Given the description of an element on the screen output the (x, y) to click on. 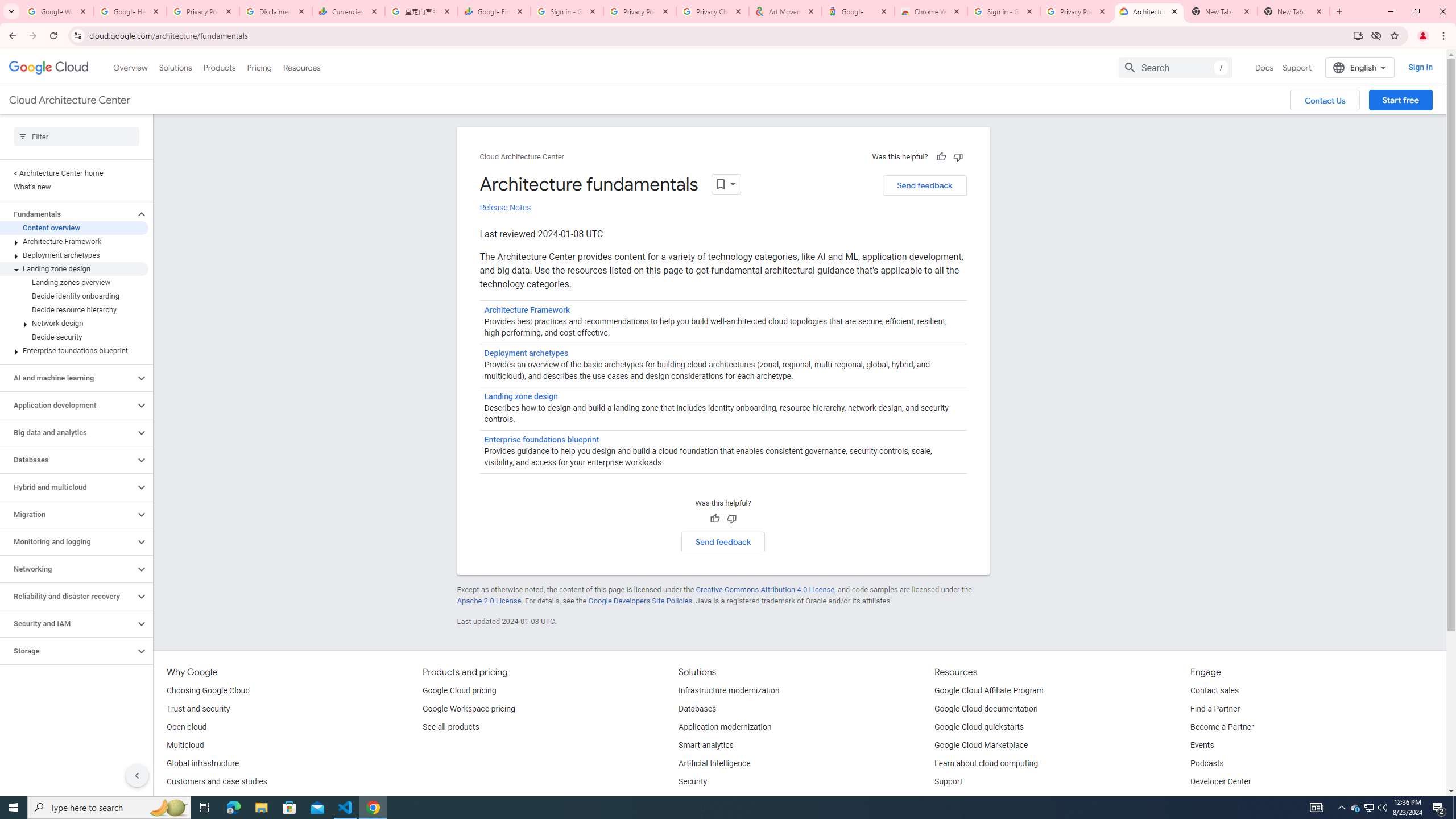
Reliability and disaster recovery (67, 596)
